Given the description of an element on the screen output the (x, y) to click on. 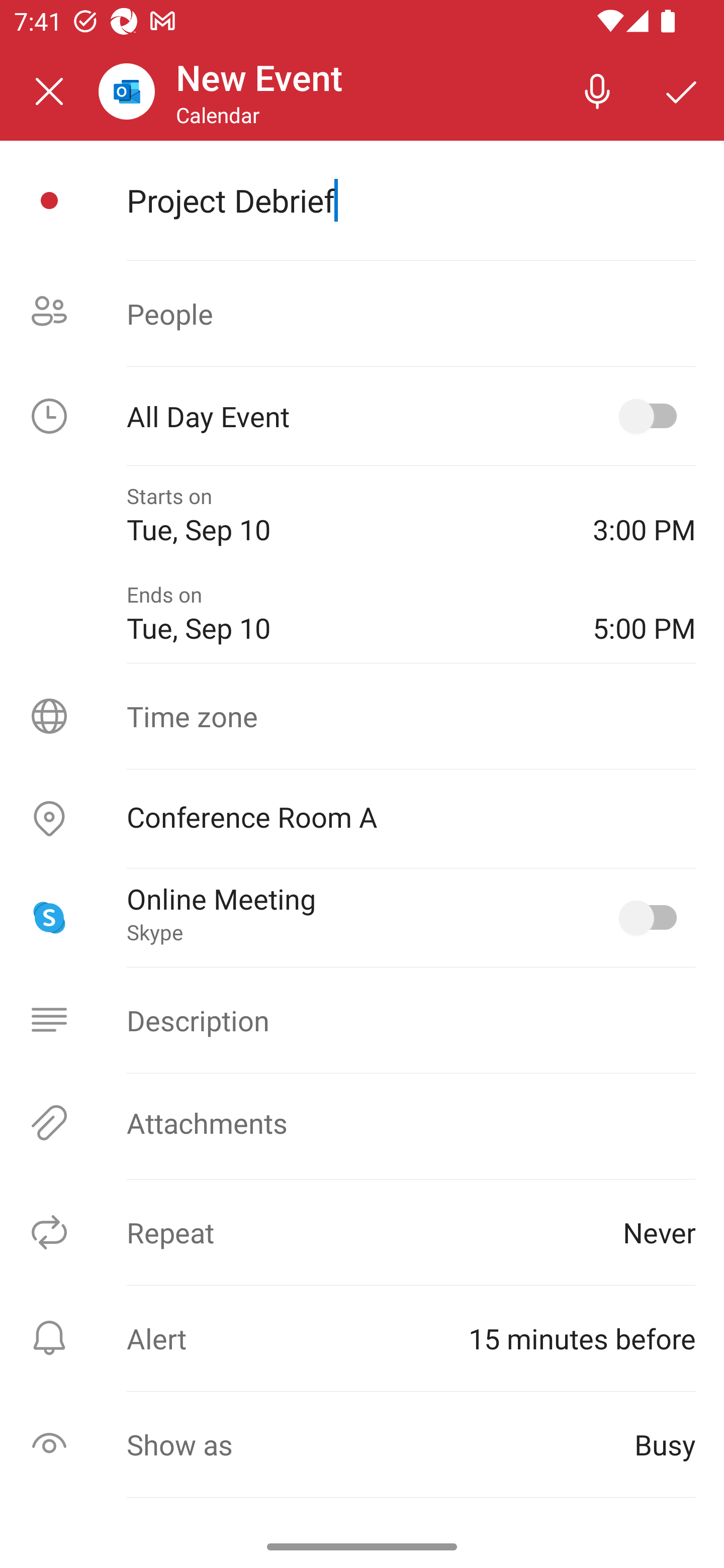
Close (49, 91)
Save (681, 90)
Project Debrief (410, 200)
Event icon picker (48, 200)
People (362, 313)
All Day Event (362, 415)
Starts on Tue, Sep 10 (345, 514)
3:00 PM (644, 514)
Ends on Tue, Sep 10 (345, 613)
5:00 PM (644, 613)
Time zone (362, 715)
Location, Conference Room A Conference Room A (362, 818)
Online Meeting, Skype selected (651, 917)
Description (362, 1019)
Attachments (362, 1122)
Repeat Never (362, 1232)
Alert ⁨15 minutes before (362, 1337)
Show as Busy (362, 1444)
